Given the description of an element on the screen output the (x, y) to click on. 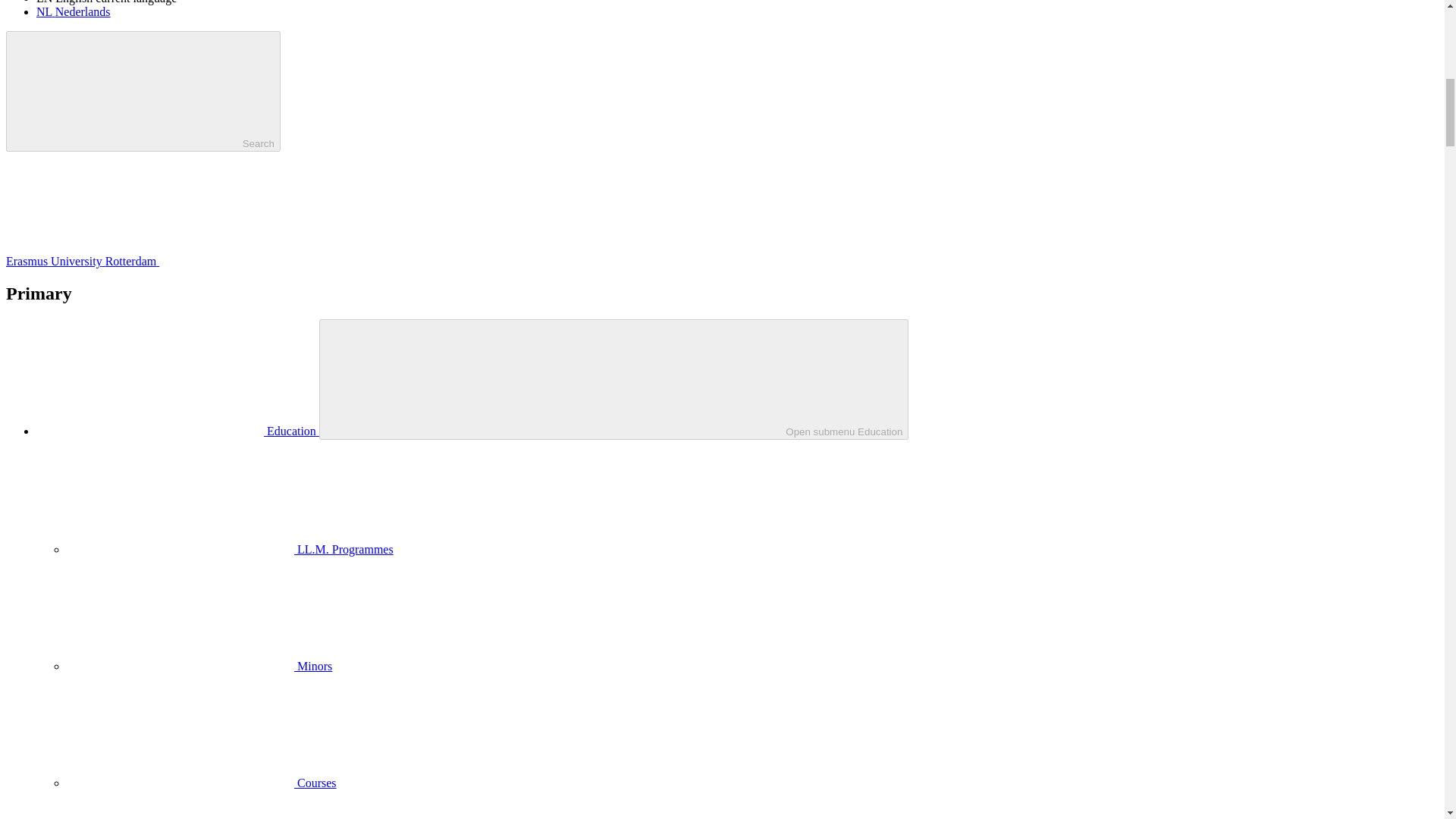
Erasmus University Rotterdam (196, 260)
Education (177, 431)
Open submenu Education (613, 379)
Search (143, 91)
NL Nederlands (73, 11)
Minors (198, 666)
LL.M. Programmes (229, 549)
Courses (201, 782)
